Given the description of an element on the screen output the (x, y) to click on. 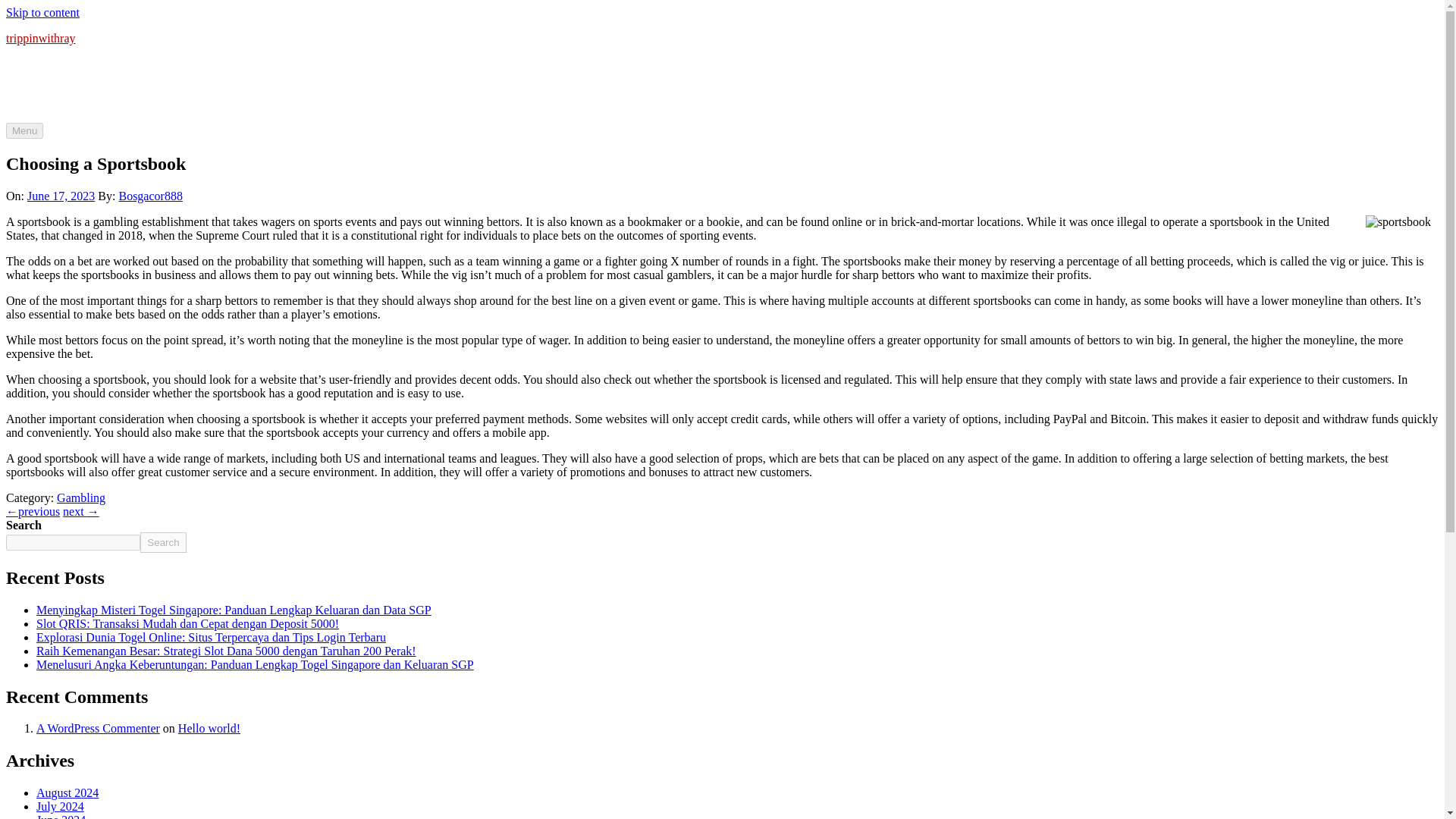
trippinwithray (40, 38)
Menu (24, 130)
June 17, 2023 (60, 195)
A WordPress Commenter (98, 727)
August 2024 (67, 792)
July 2024 (60, 806)
Hello world! (208, 727)
Search (162, 542)
